Given the description of an element on the screen output the (x, y) to click on. 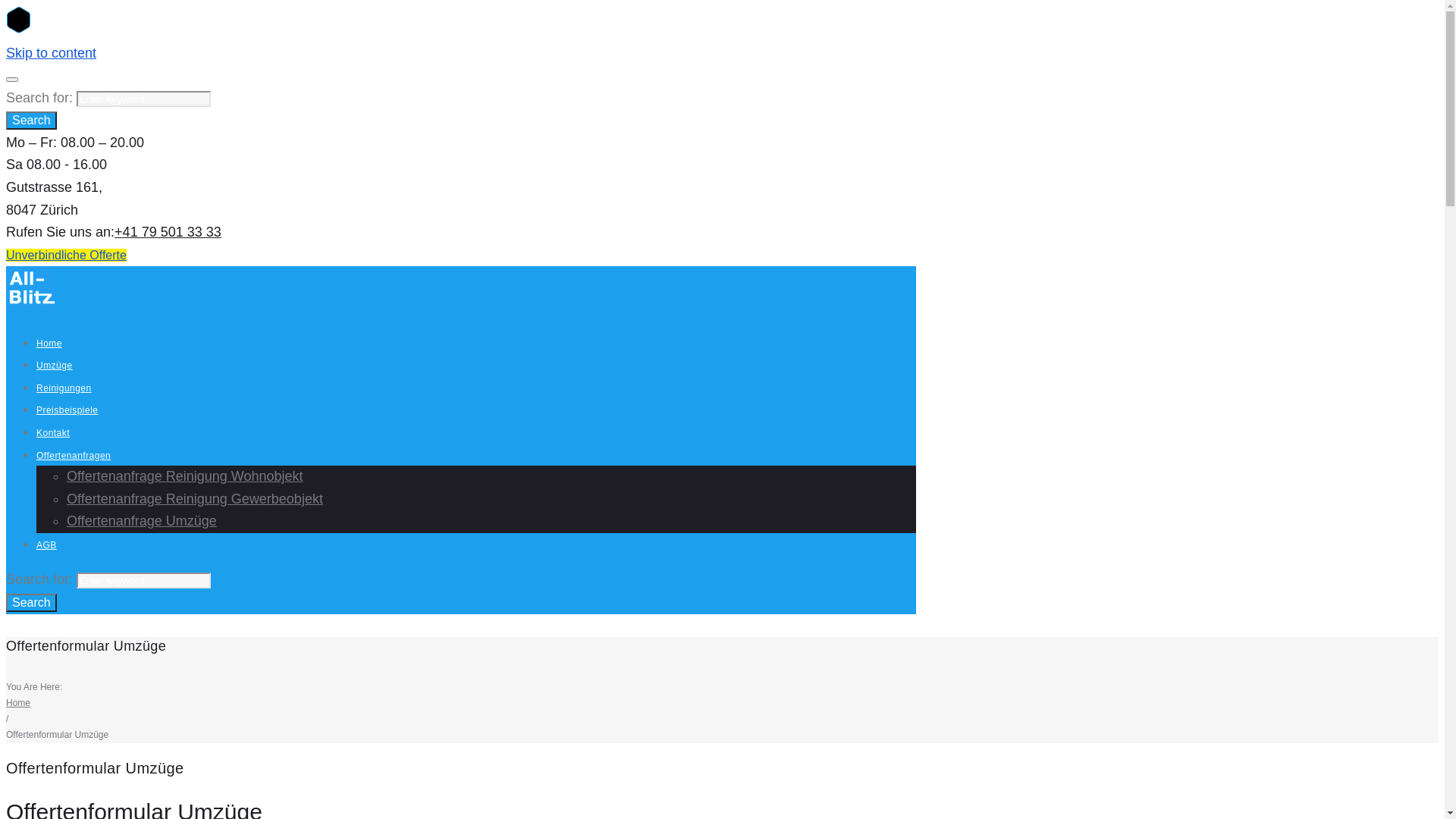
Search Element type: text (31, 120)
Reinigungen Element type: text (63, 387)
Search for: Element type: hover (143, 580)
AGB Element type: text (46, 544)
Home Element type: text (18, 702)
+41 79 501 33 33 Element type: text (167, 231)
Offertenanfrage Reinigung Gewerbeobjekt Element type: text (194, 498)
Preisbeispiele Element type: text (66, 409)
Search for: Element type: hover (143, 98)
Offertenanfrage Reinigung Wohnobjekt Element type: text (184, 475)
Offertenanfragen Element type: text (73, 455)
Home Element type: text (49, 343)
Kontakt Element type: text (52, 432)
Unverbindliche Offerte Element type: text (66, 254)
Skip to content Element type: text (51, 52)
Search Element type: text (31, 602)
